Given the description of an element on the screen output the (x, y) to click on. 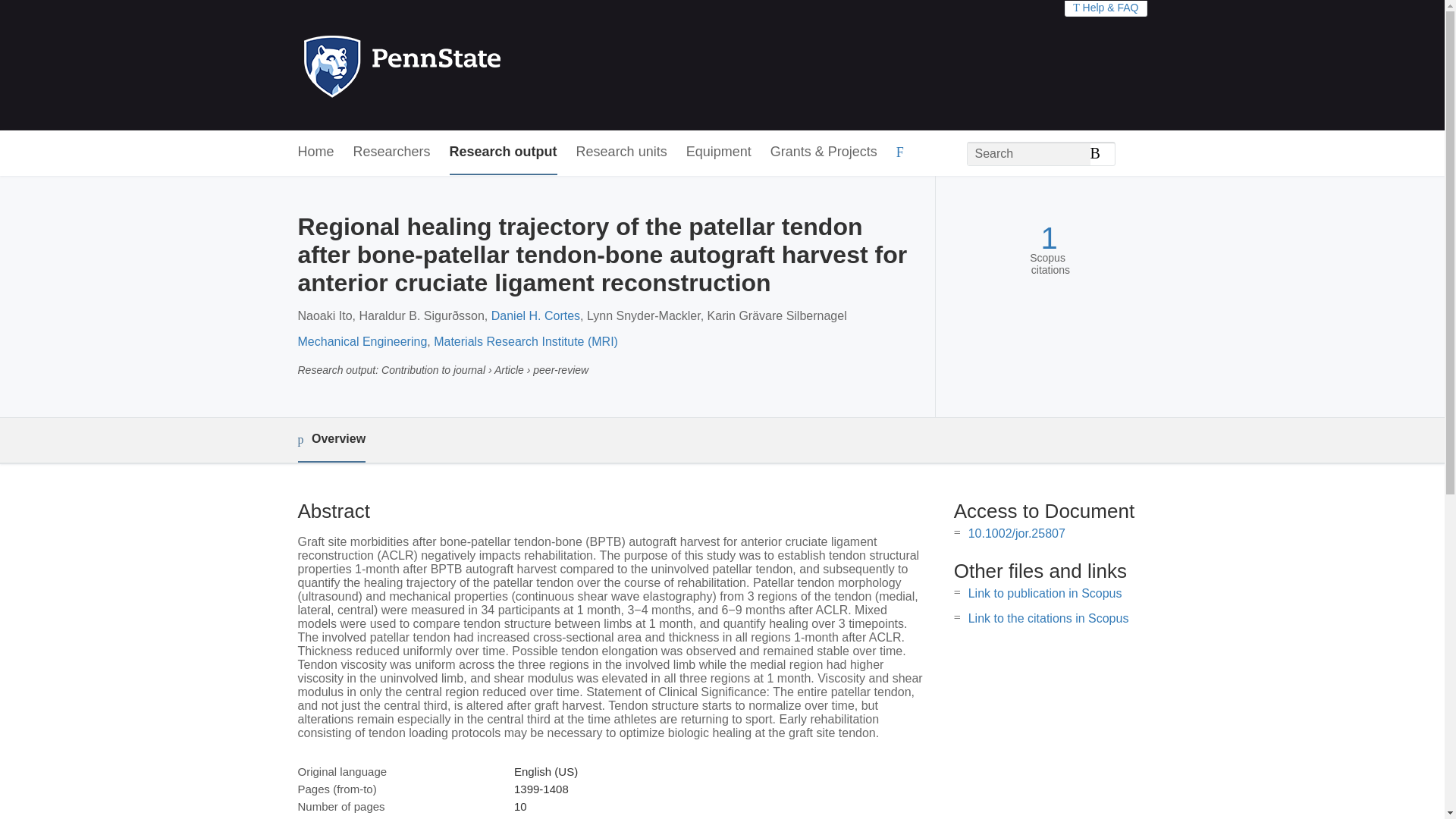
Research units (621, 152)
1 (1049, 238)
Overview (331, 439)
Daniel H. Cortes (535, 315)
Equipment (718, 152)
Link to publication in Scopus (1045, 593)
Link to the citations in Scopus (1048, 617)
Penn State Home (467, 65)
Mechanical Engineering (361, 341)
Researchers (391, 152)
Research output (503, 152)
Home (315, 152)
